Given the description of an element on the screen output the (x, y) to click on. 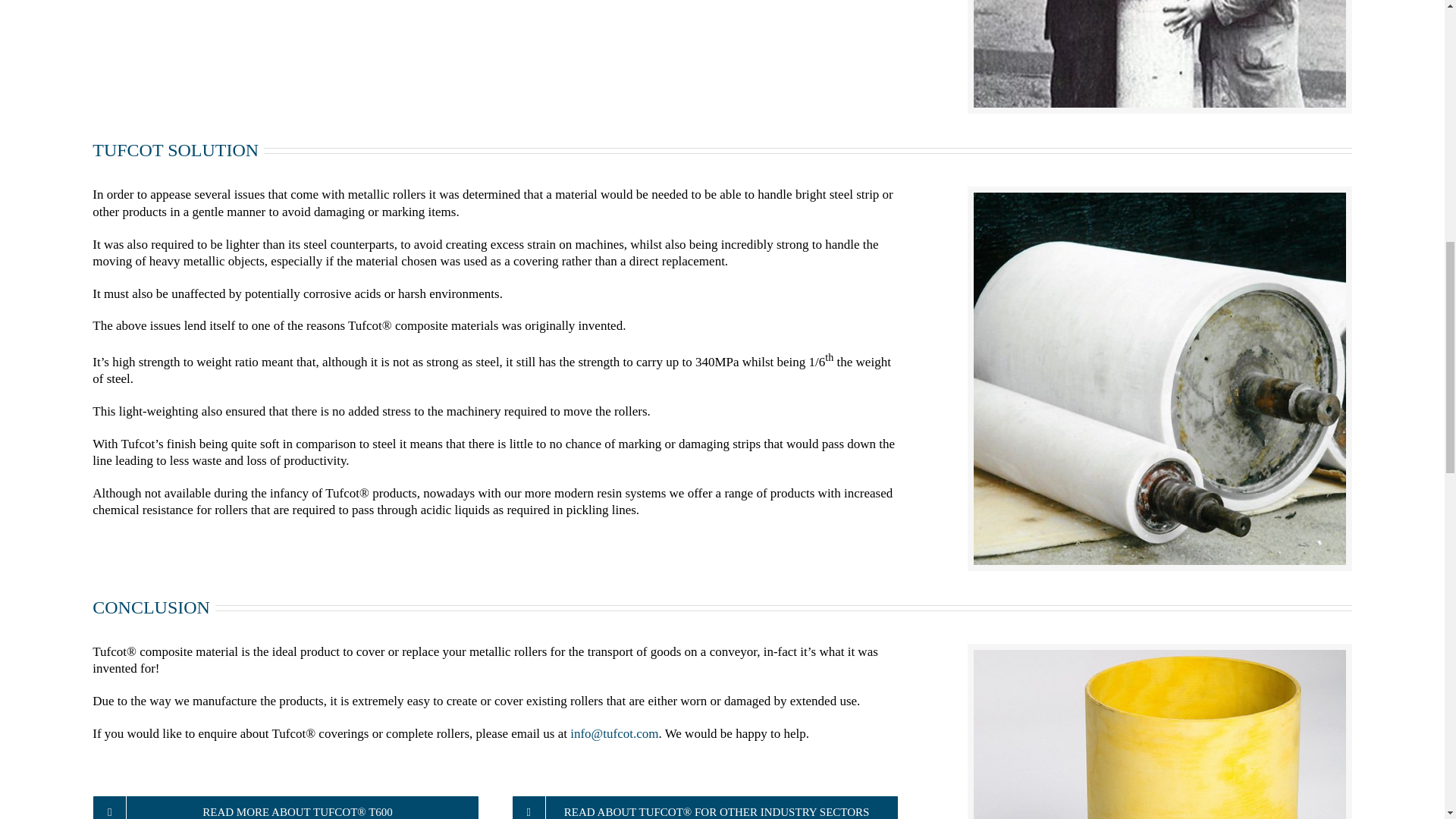
steel-rollers-square-3 (1159, 734)
steel-rollers-square-2 (1159, 53)
